Given the description of an element on the screen output the (x, y) to click on. 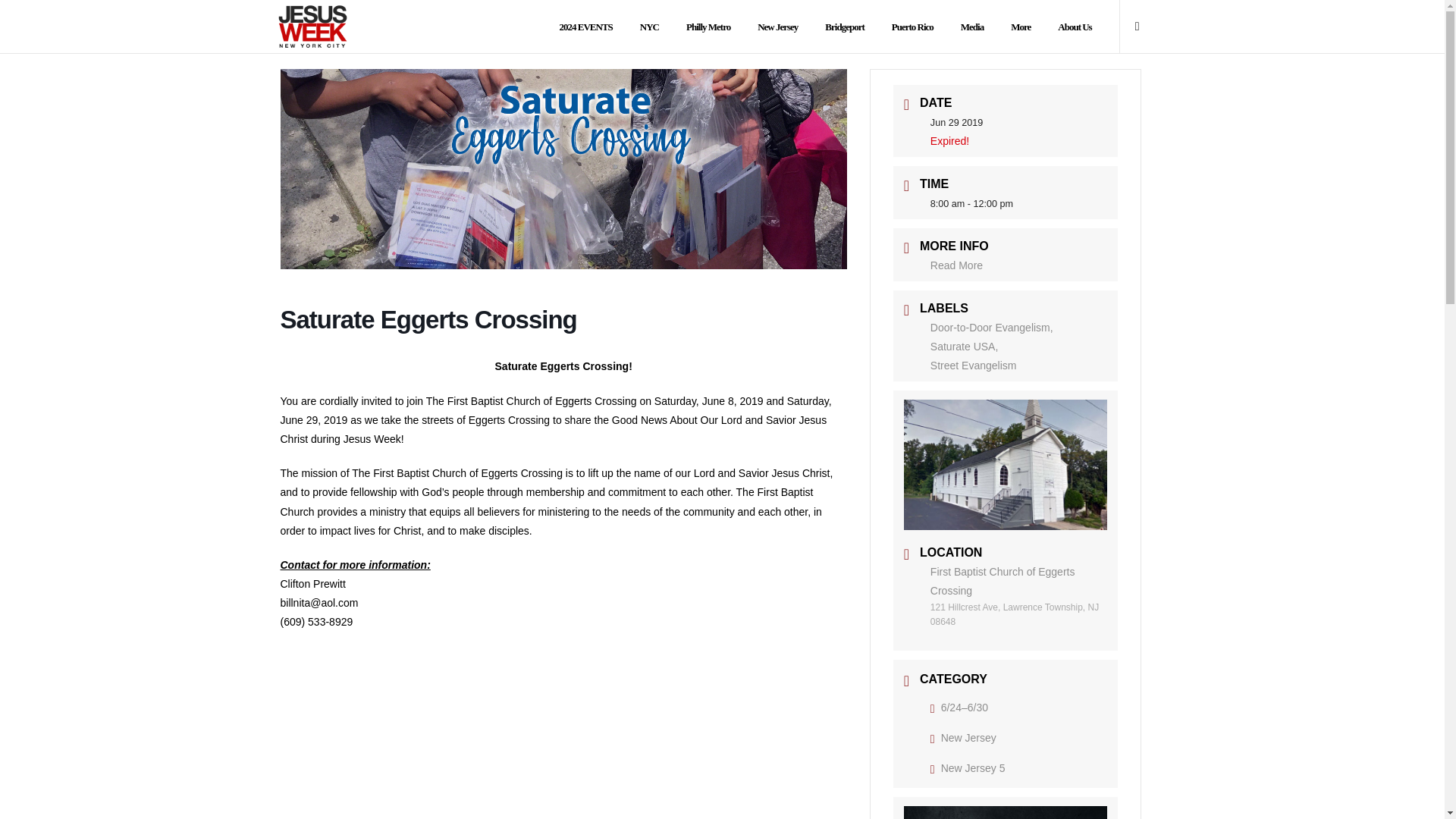
Saturate USA - Short Promo (564, 750)
Site logo (312, 26)
Site logo (321, 26)
